Given the description of an element on the screen output the (x, y) to click on. 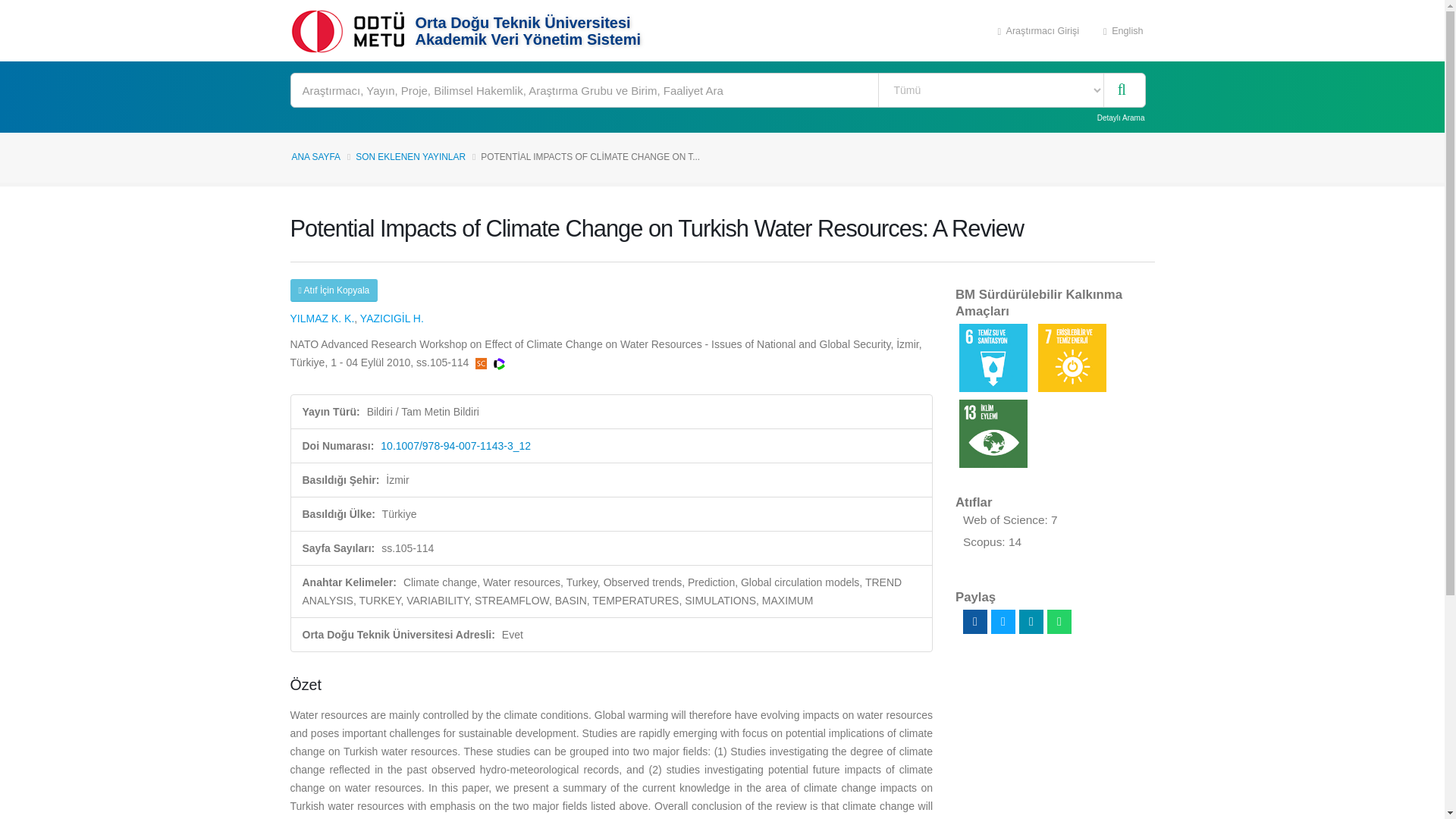
English (1123, 31)
SON EKLENEN YAYINLAR (410, 156)
YILMAZ K. K. (321, 318)
ANA SAYFA (315, 156)
